Given the description of an element on the screen output the (x, y) to click on. 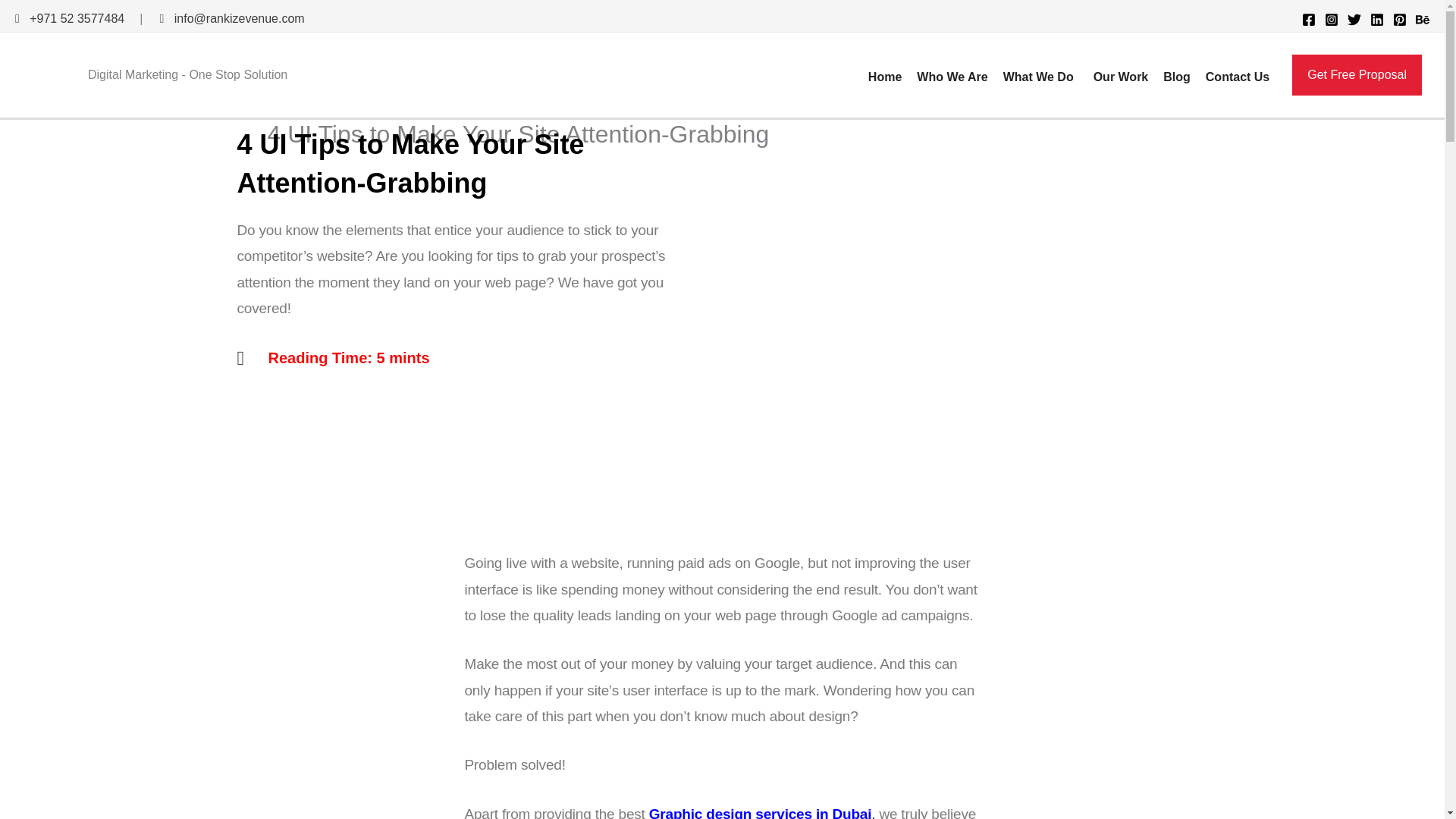
Home (884, 72)
Who We Are (951, 72)
What We Do (1040, 72)
Graphics Design Services (759, 812)
